Given the description of an element on the screen output the (x, y) to click on. 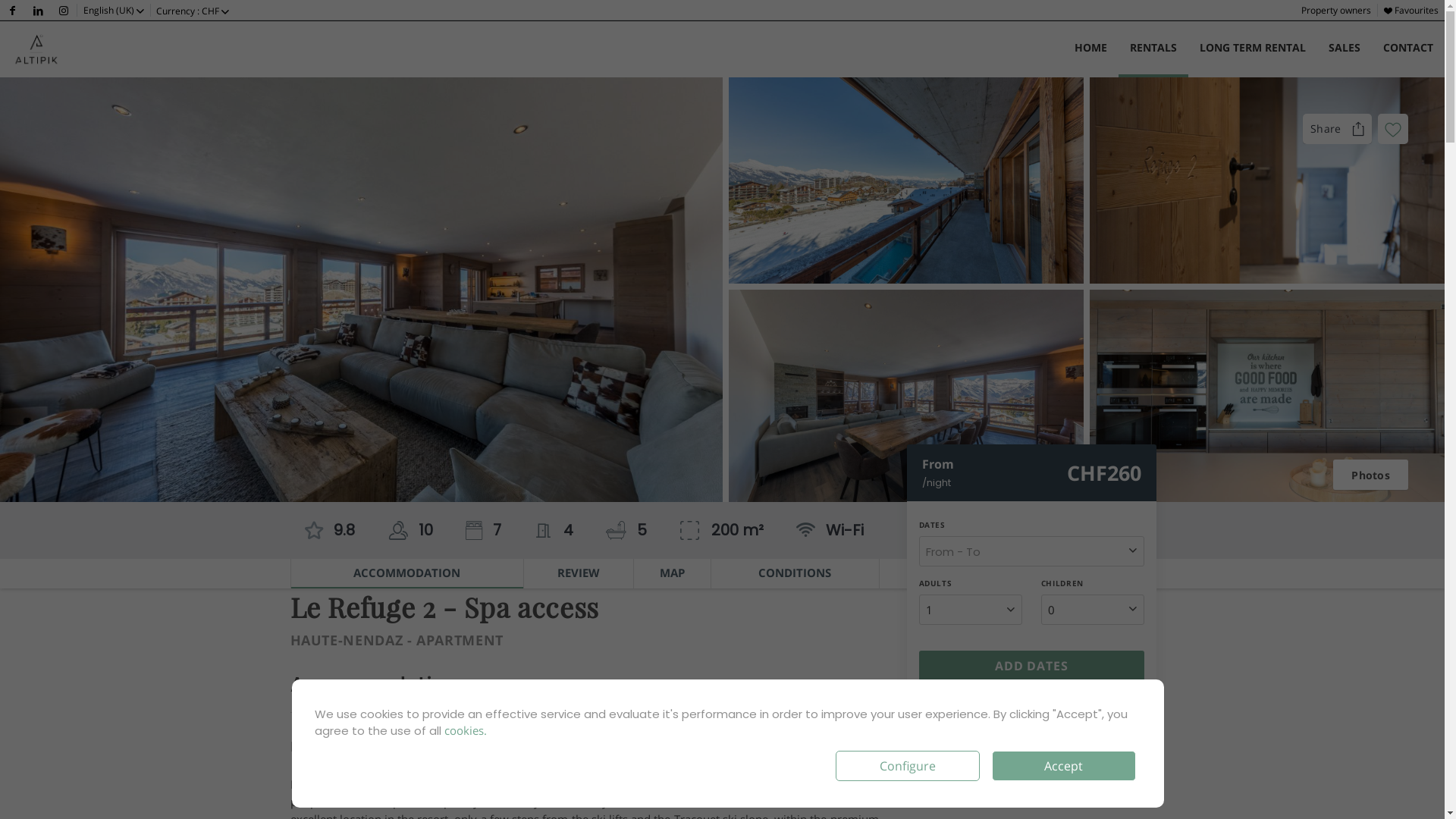
1 Element type: text (970, 609)
Contact Element type: text (941, 714)
HOME Element type: text (1090, 49)
+41-272895100 Element type: text (1105, 714)
LONG TERM RENTAL Element type: text (1252, 49)
SALES Element type: text (1344, 49)
REVIEW Element type: text (578, 572)
0 Element type: text (1092, 609)
ADD DATES Element type: text (1032, 665)
English (UK) Element type: text (113, 10)
Photos Element type: text (1370, 474)
Configure Element type: text (907, 765)
cookies. Element type: text (465, 729)
Favourites Element type: text (1410, 10)
WhatsApp Element type: text (1016, 714)
RENTALS Element type: text (1153, 49)
Property owners Element type: text (1336, 10)
CONDITIONS Element type: text (794, 572)
CONTACT Element type: text (1407, 49)
Add to favourites Element type: hover (1392, 128)
MAP Element type: text (671, 572)
ACCOMMODATION Element type: text (407, 573)
Accept Element type: text (1063, 765)
Share Element type: text (1336, 128)
